Given the description of an element on the screen output the (x, y) to click on. 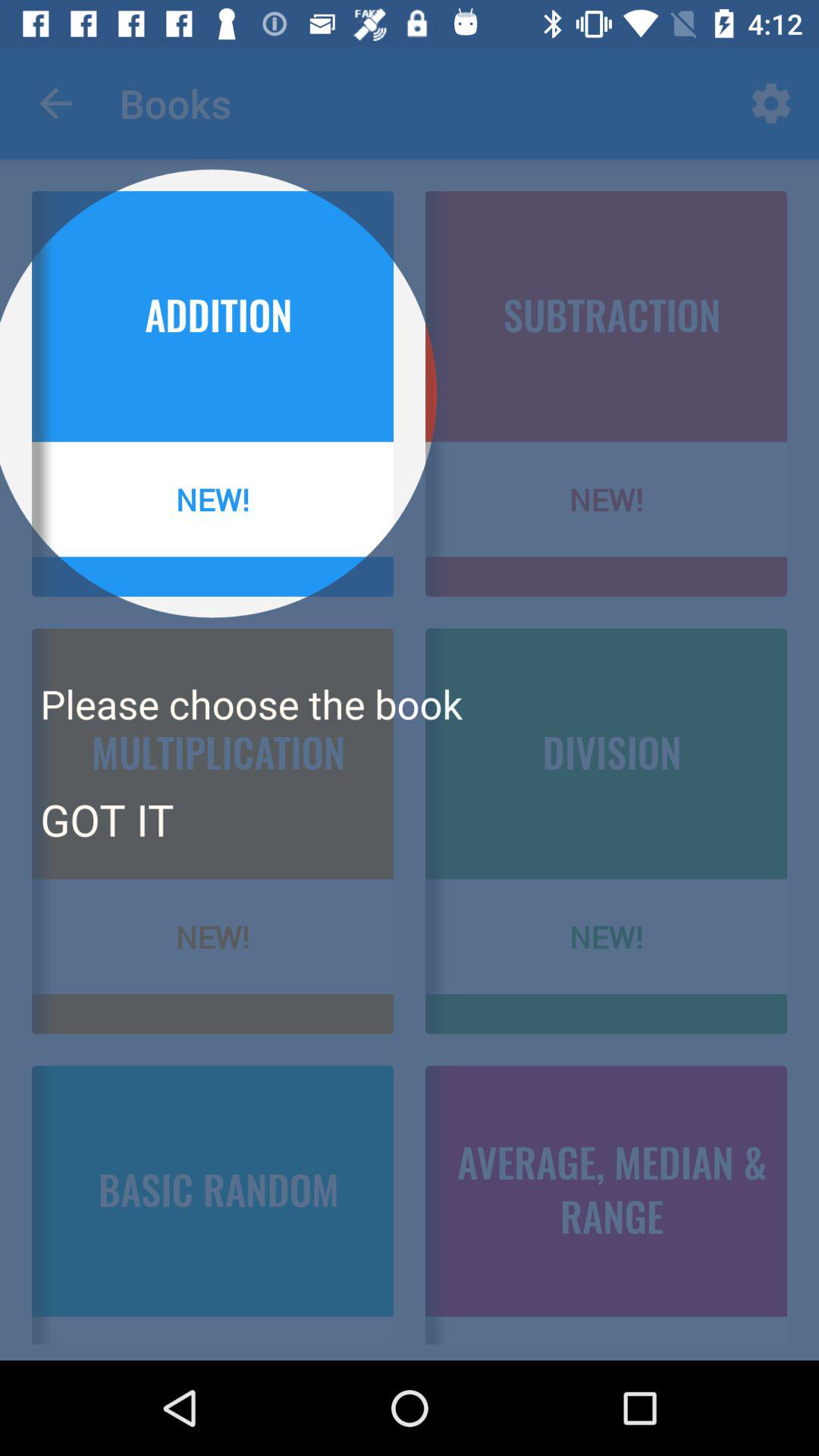
turn on the icon to the right of the books app (771, 103)
